Given the description of an element on the screen output the (x, y) to click on. 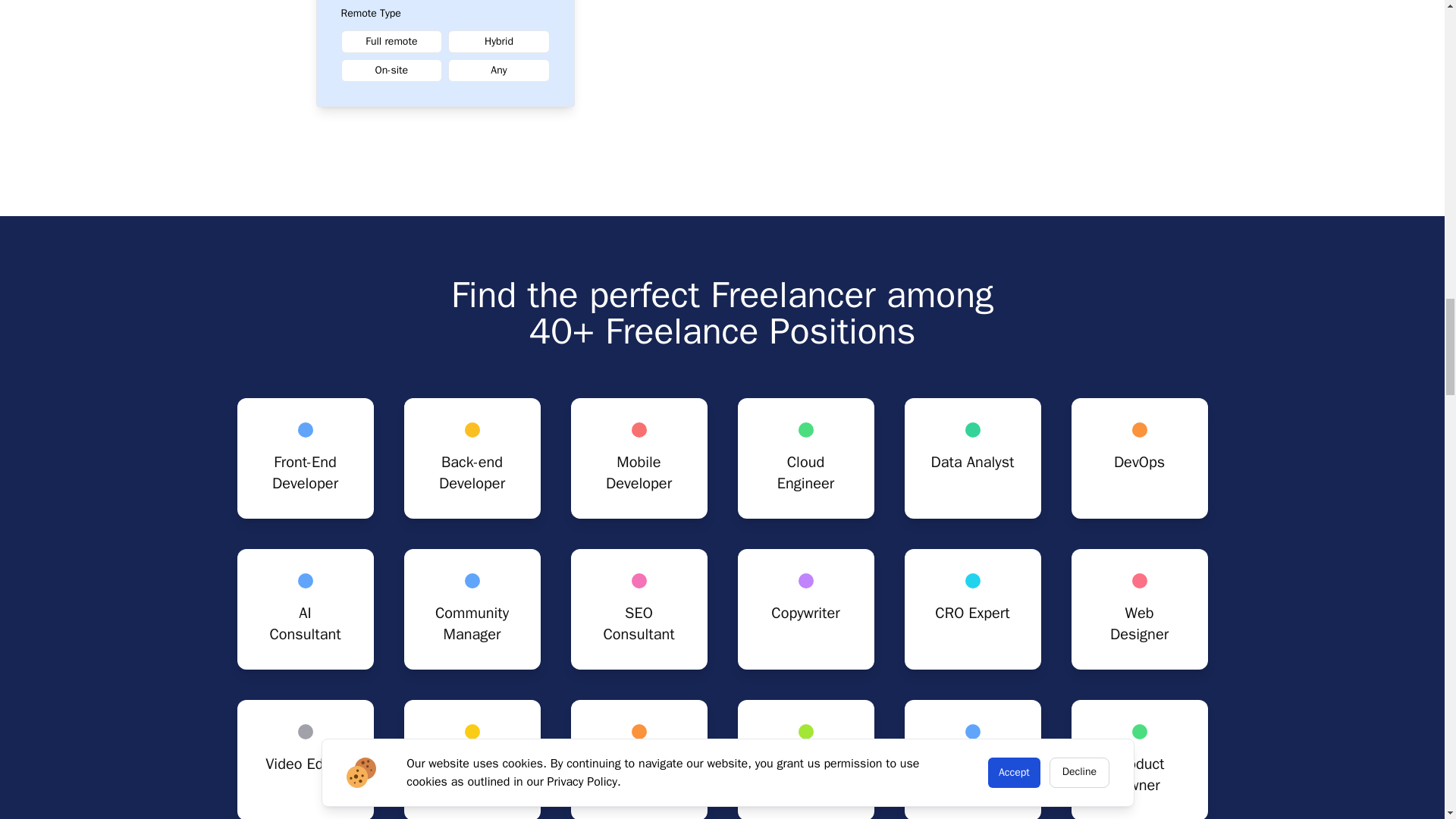
Full remote (391, 41)
Any (499, 69)
On-site (391, 69)
Hybrid (499, 41)
